Given the description of an element on the screen output the (x, y) to click on. 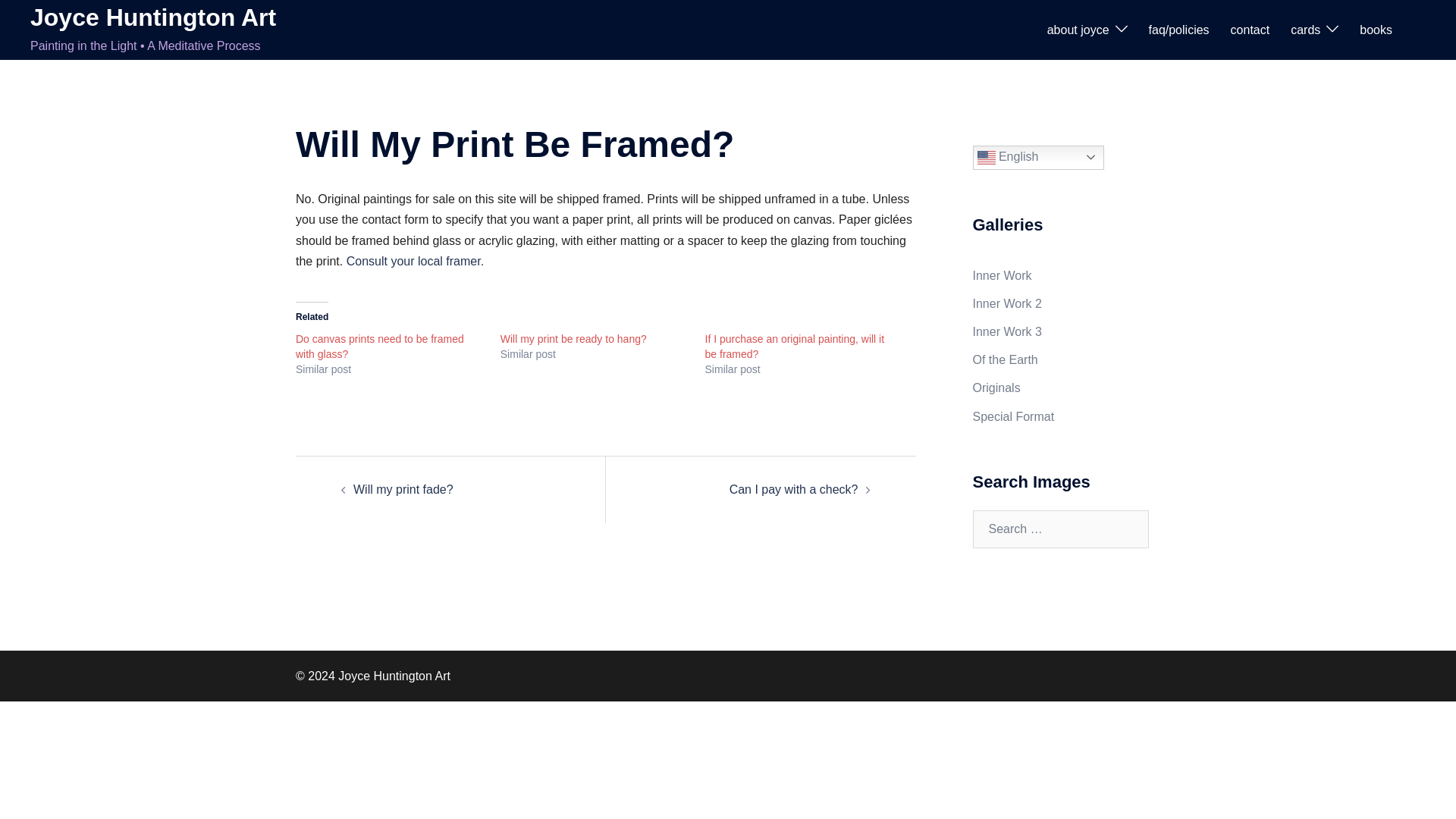
Do canvas prints need to be framed with glass? (379, 346)
cards (1305, 29)
Joyce Huntington Art (153, 17)
Will my print fade? (402, 489)
contact (1249, 29)
about joyce (1077, 29)
If I purchase an original painting, will it be framed? (794, 346)
Do canvas prints need to be framed with glass? (379, 346)
Will my print be ready to hang? (573, 338)
books (1375, 29)
